Given the description of an element on the screen output the (x, y) to click on. 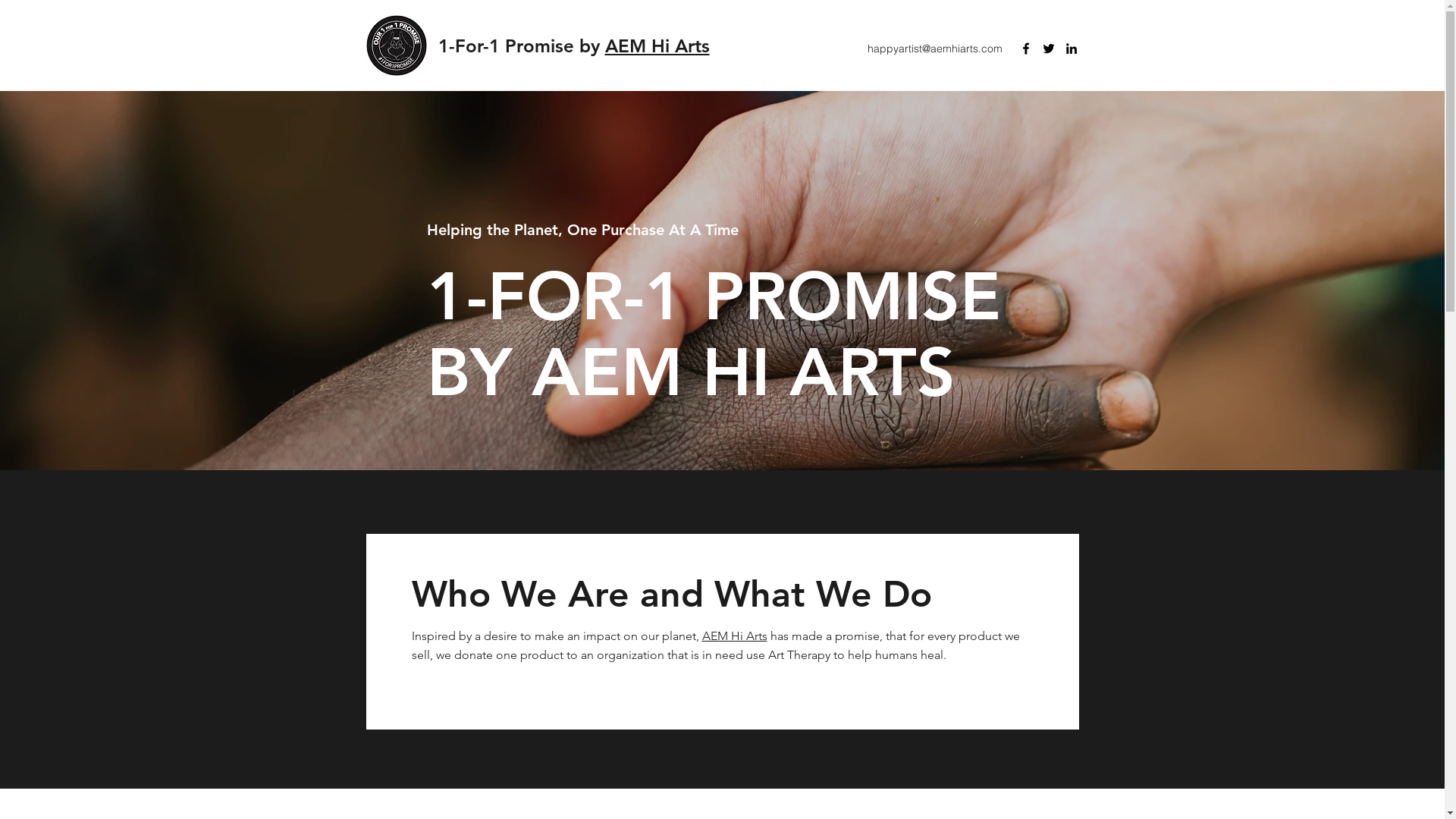
AEM Hi Arts Element type: text (734, 635)
AEM Hi Arts Element type: text (657, 45)
happyartist@aemhiarts.com Element type: text (934, 48)
